Given the description of an element on the screen output the (x, y) to click on. 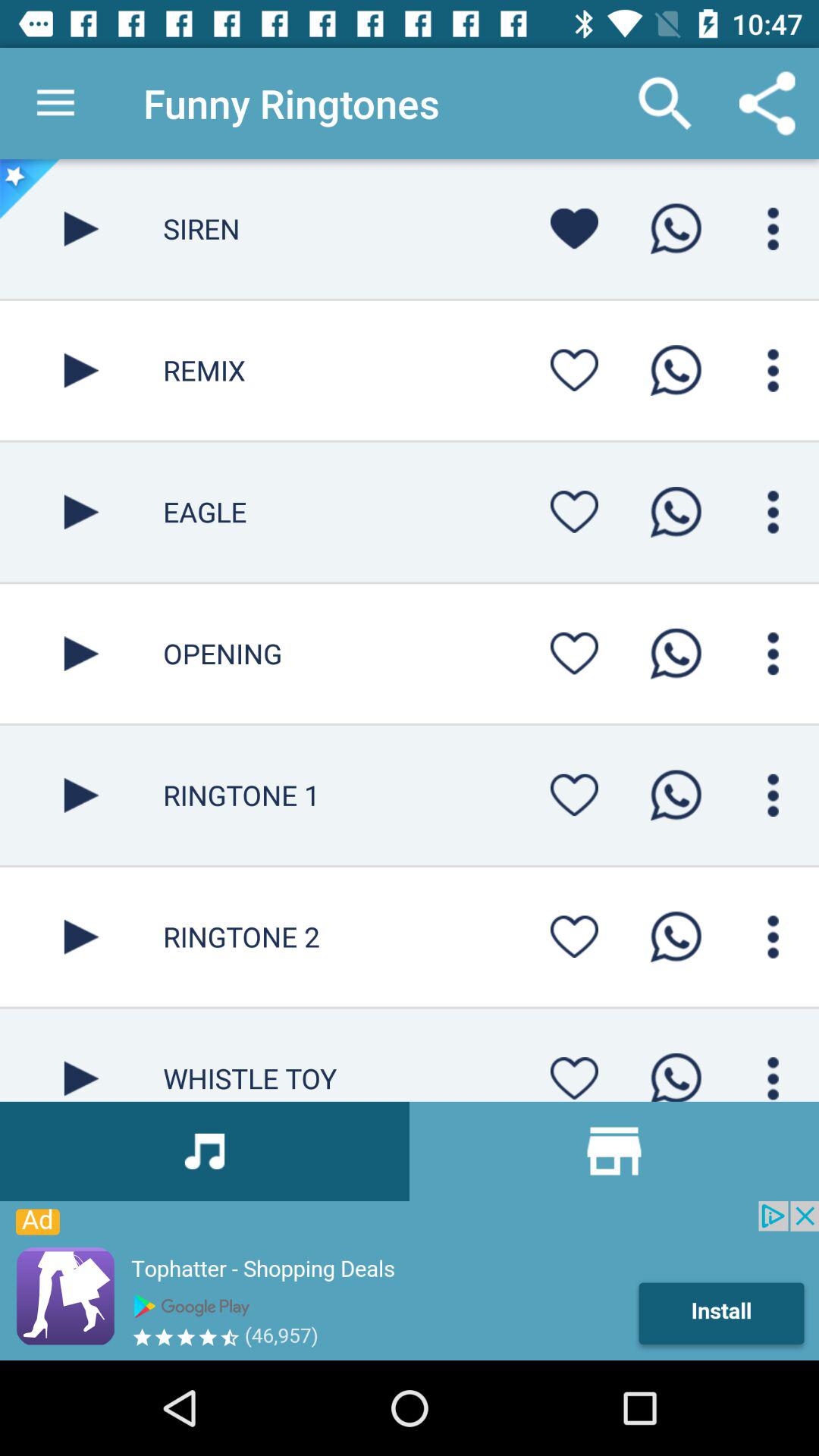
mark it as a favorite ringtone (574, 936)
